Given the description of an element on the screen output the (x, y) to click on. 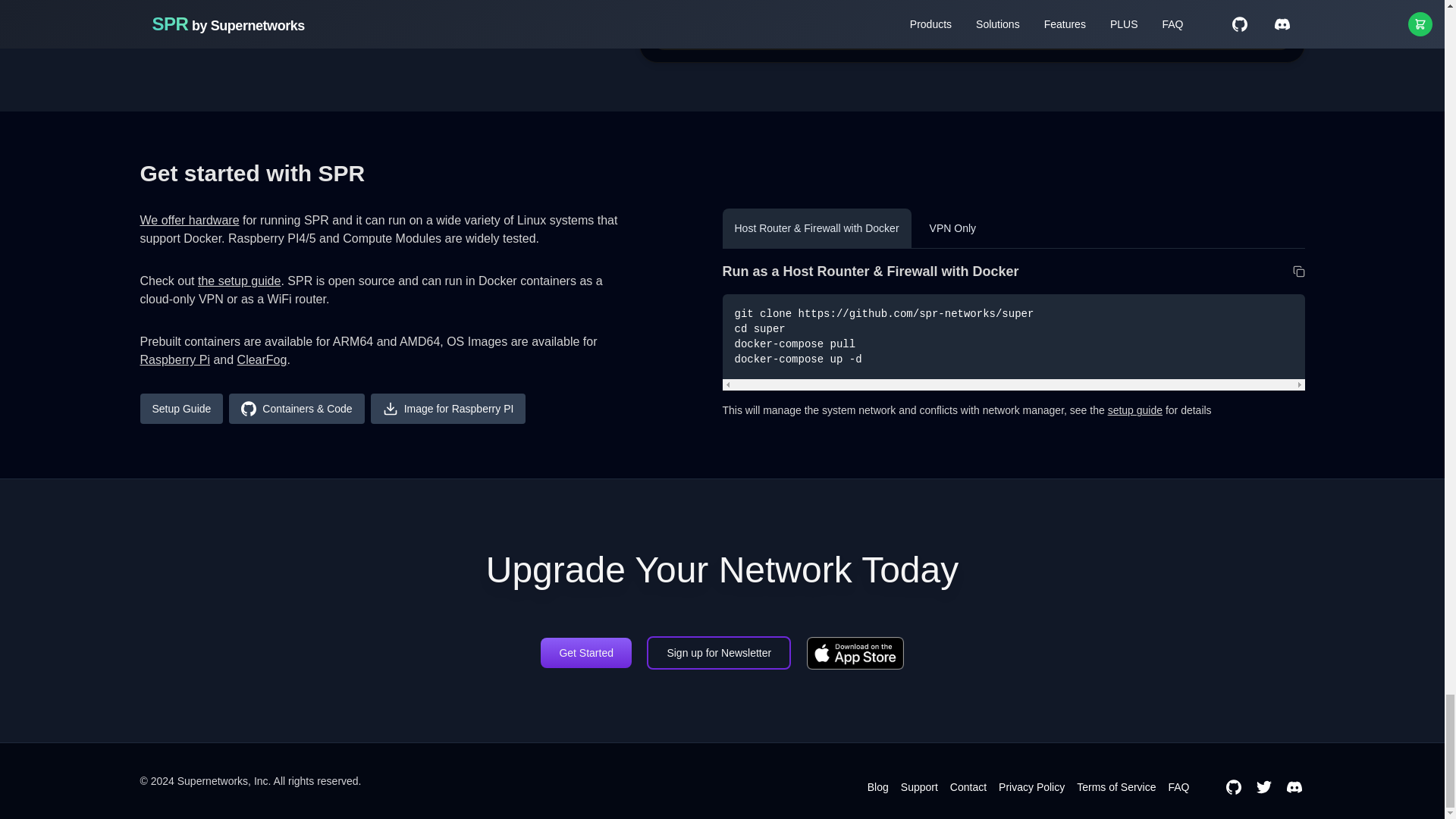
Setup Guide (180, 408)
Raspberry Pi (174, 359)
ClearFog (261, 359)
the setup guide (239, 280)
Image for Raspberry PI (448, 408)
setup guide (1134, 410)
We offer hardware (188, 219)
VPN Only (952, 228)
